Given the description of an element on the screen output the (x, y) to click on. 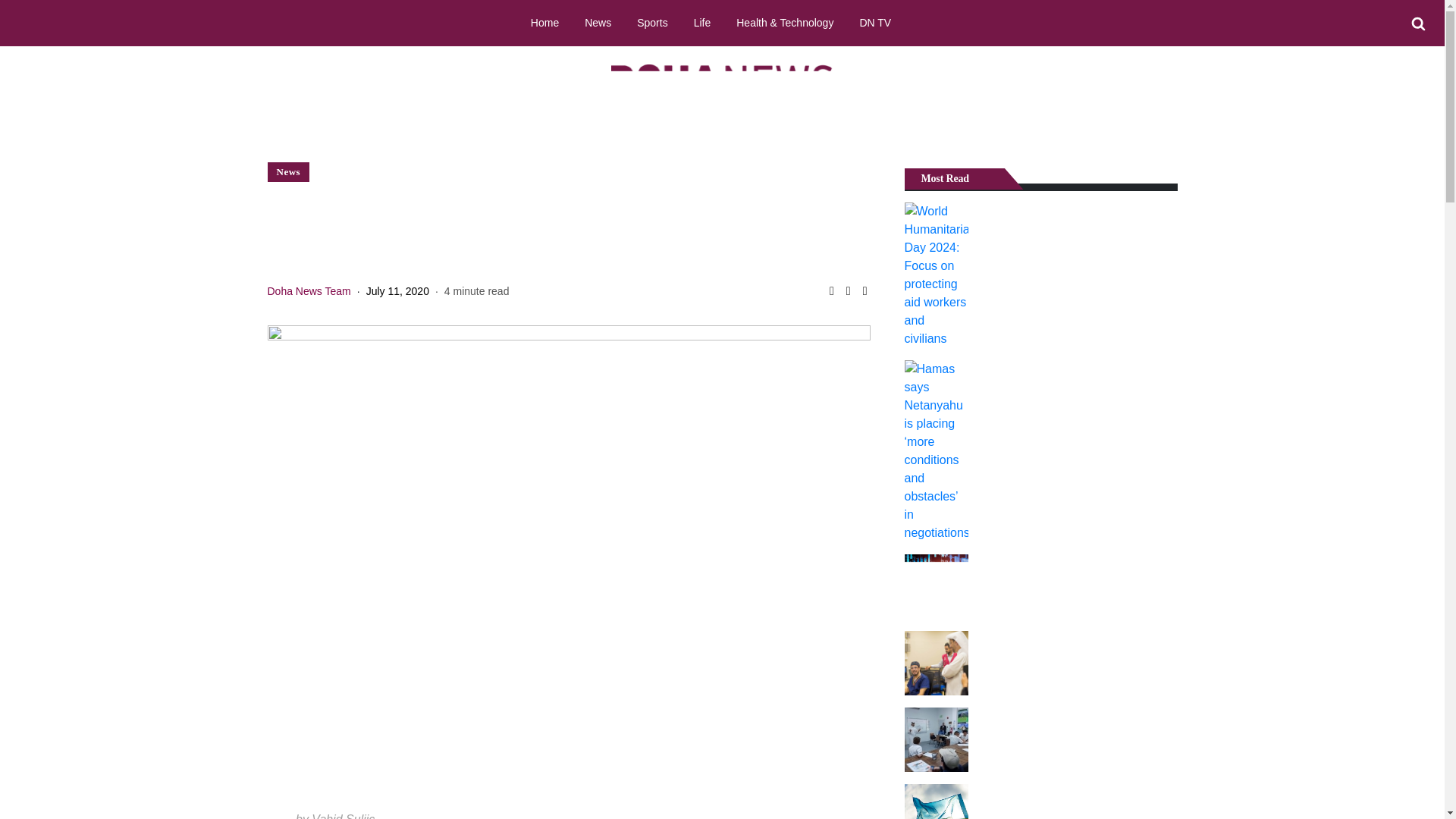
Doha News Team (308, 291)
DN TV (875, 22)
News (598, 22)
Search (1417, 23)
View all posts by Doha News Team (308, 291)
News (287, 171)
July 11, 2020 (397, 291)
Home (545, 22)
Sports (651, 22)
Life (702, 22)
